Given the description of an element on the screen output the (x, y) to click on. 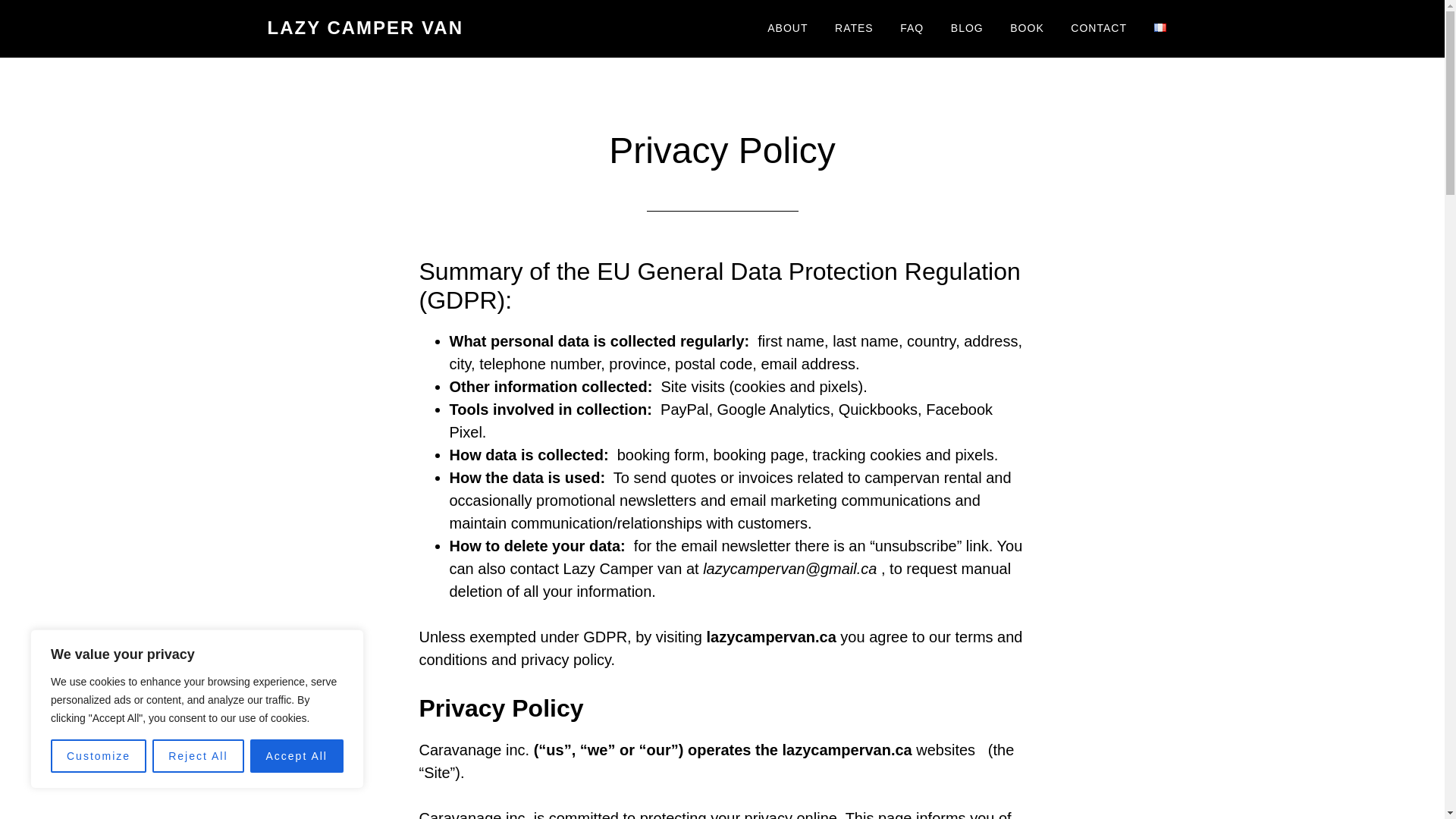
BLOG (966, 28)
Accept All (296, 756)
RATES (854, 28)
BOOK (1026, 28)
Customize (98, 756)
LAZY CAMPER VAN (364, 27)
FAQ (911, 28)
ABOUT (786, 28)
Reject All (197, 756)
CONTACT (1098, 28)
